Given the description of an element on the screen output the (x, y) to click on. 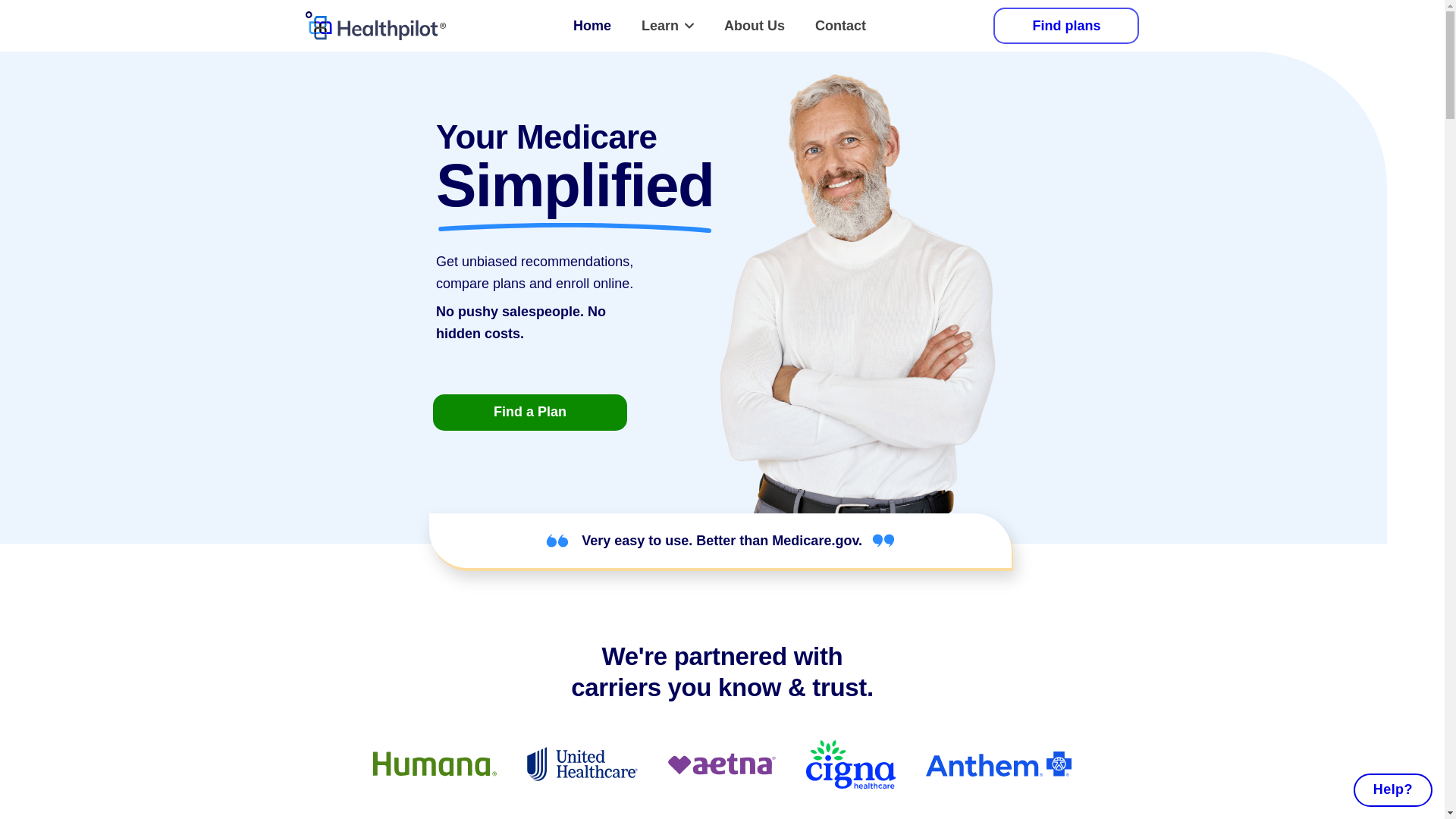
Find a Plan (529, 411)
Find plans (1065, 25)
Help? (1393, 789)
Learn (668, 25)
Contact (840, 26)
Home (592, 26)
Healthpilot homepage. (374, 25)
About Us (753, 26)
